Given the description of an element on the screen output the (x, y) to click on. 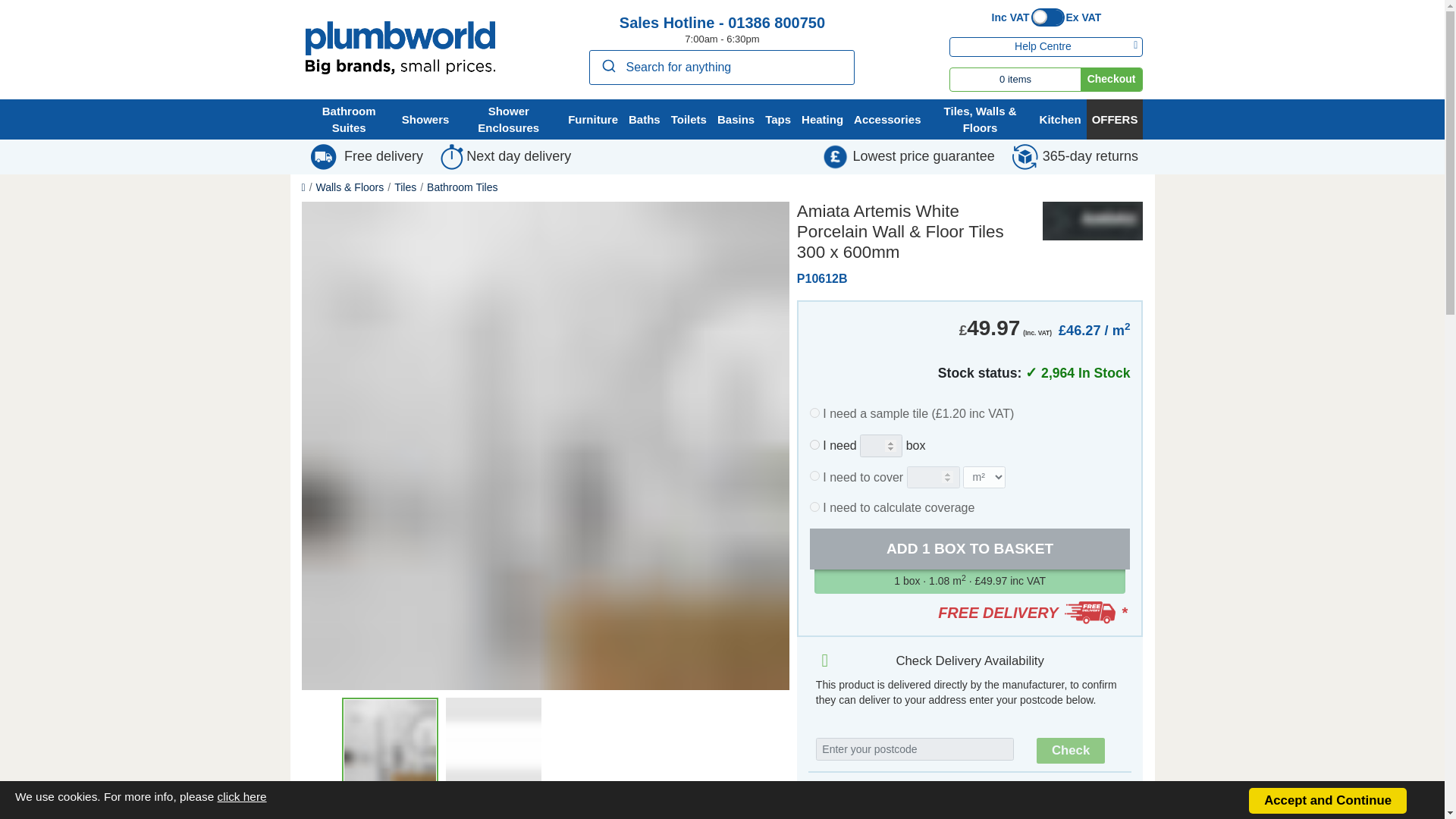
Showers (425, 119)
Plumbworld (399, 47)
by-calculator (814, 506)
by-specified-area (814, 475)
Sales Hotline - 01386 800750 (721, 23)
Bathroom Suites (348, 119)
Checkout (1111, 78)
by-boxes-needed (814, 444)
0 items (1015, 79)
Submit (607, 64)
